Given the description of an element on the screen output the (x, y) to click on. 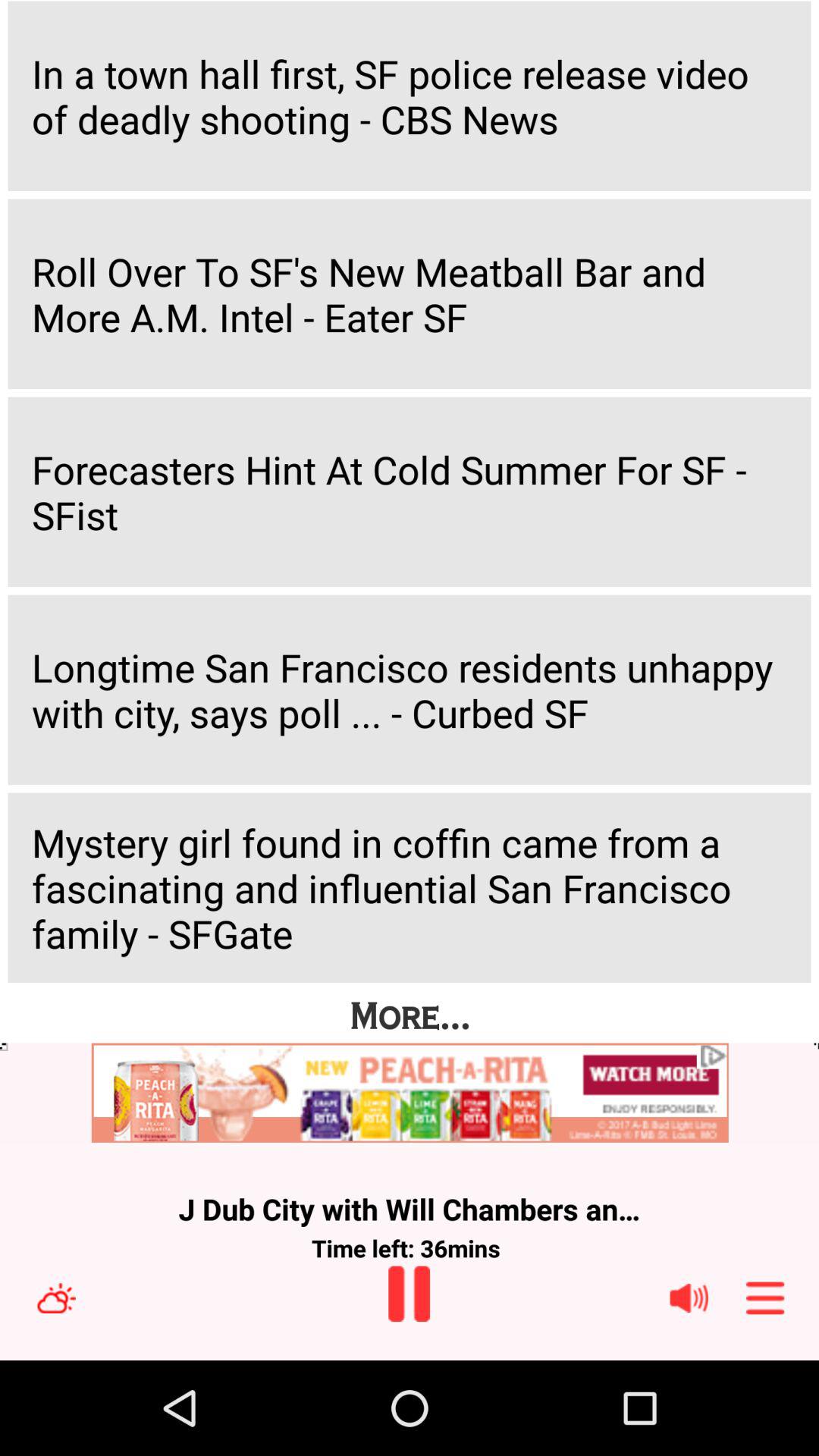
displays the weather (56, 1298)
